Given the description of an element on the screen output the (x, y) to click on. 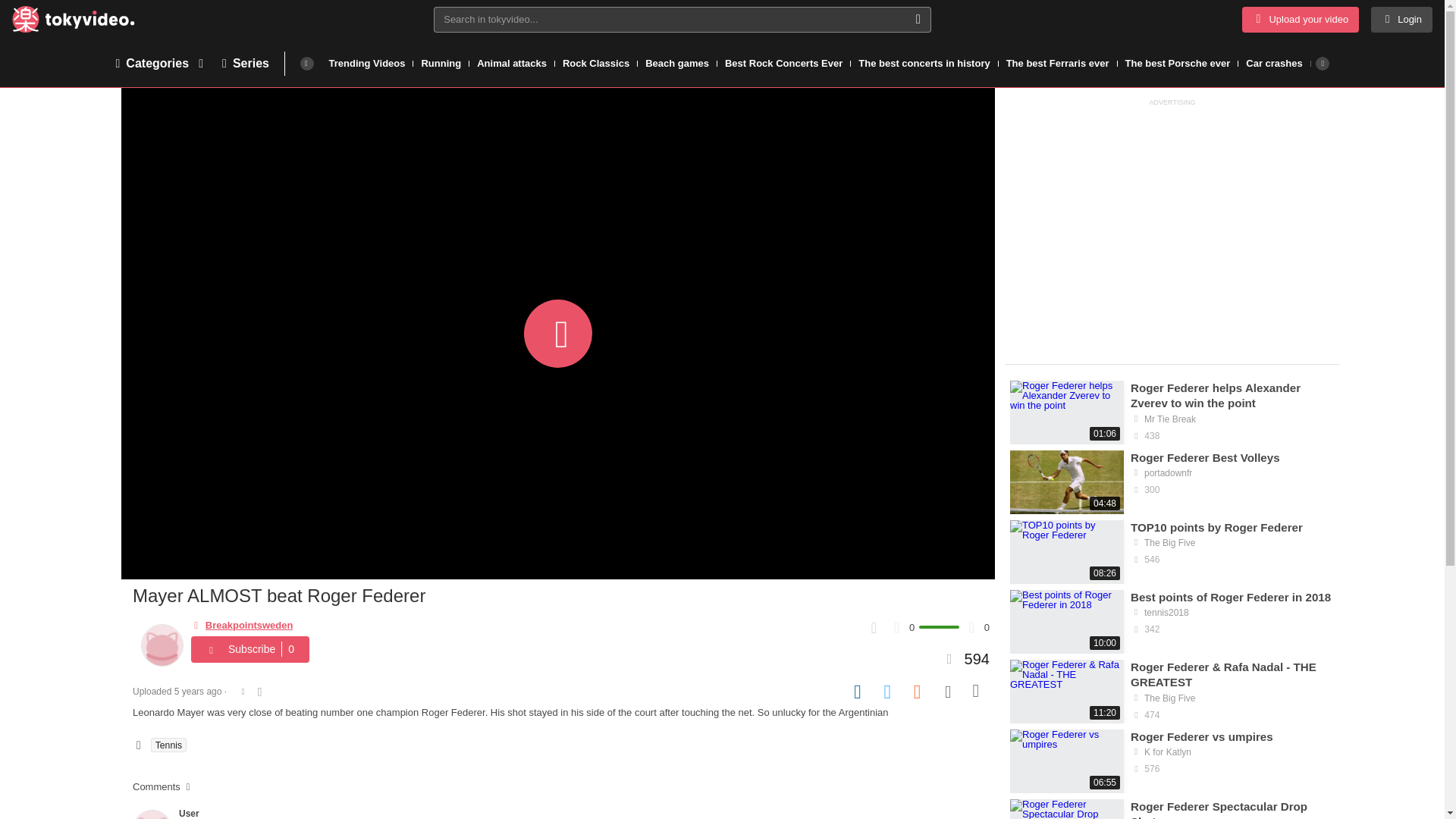
Upload your video (1299, 19)
Login (1401, 19)
Categories (160, 62)
Share on Reddit (918, 691)
